Given the description of an element on the screen output the (x, y) to click on. 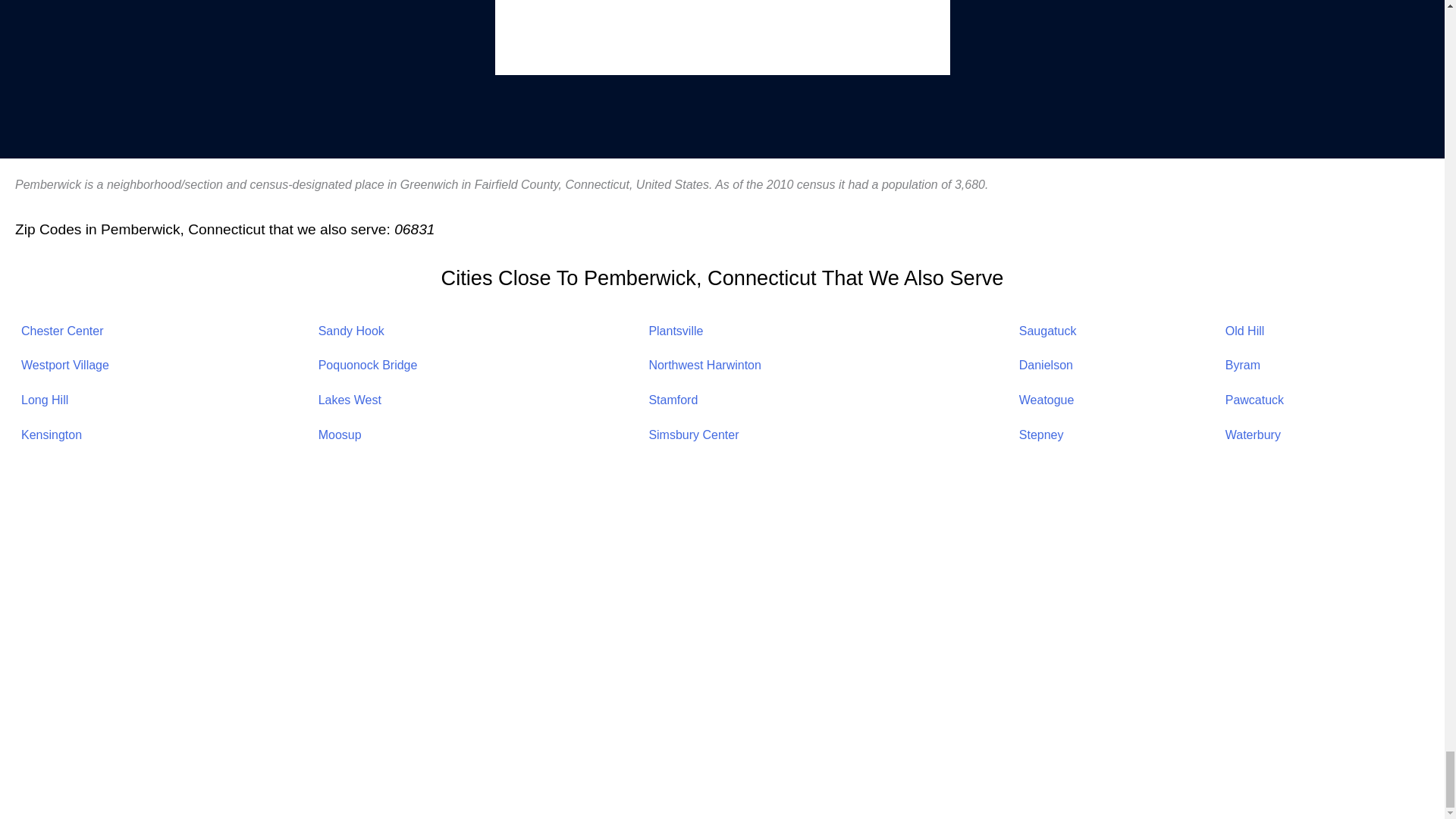
Westport Village (65, 364)
Northwest Harwinton (704, 364)
Sandy Hook (351, 330)
Chester Center (62, 330)
Plantsville (675, 330)
Poquonock Bridge (367, 364)
Old Hill (1245, 330)
Saugatuck (1048, 330)
